Given the description of an element on the screen output the (x, y) to click on. 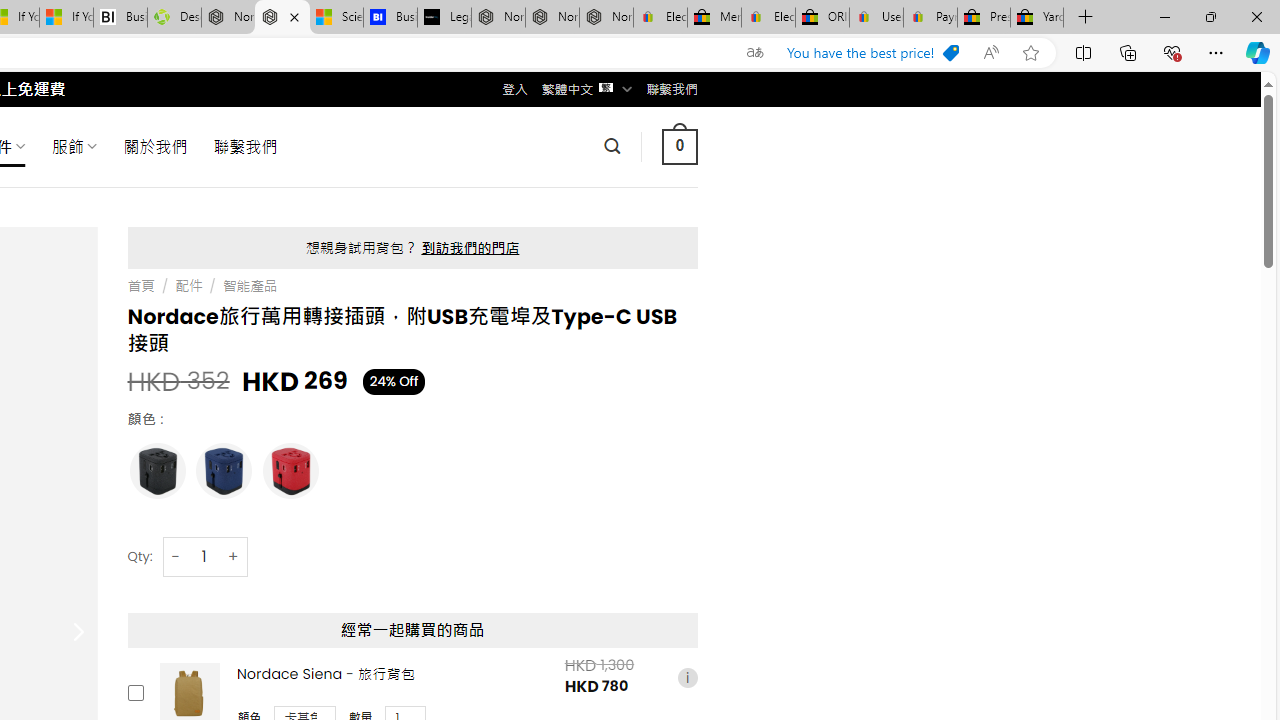
Descarga Driver Updater (174, 17)
  0   (679, 146)
